Given the description of an element on the screen output the (x, y) to click on. 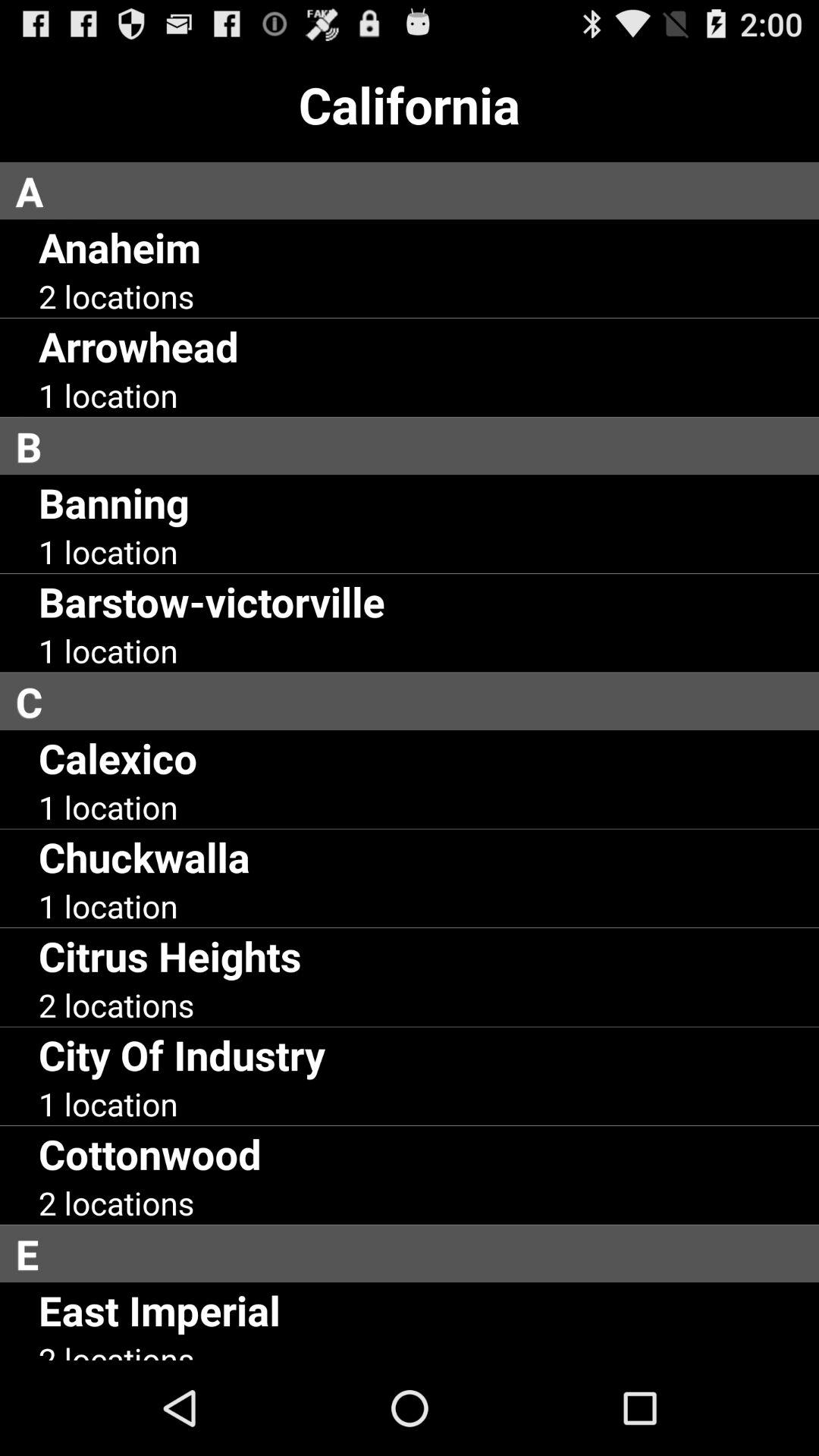
scroll to city of industry icon (181, 1054)
